Given the description of an element on the screen output the (x, y) to click on. 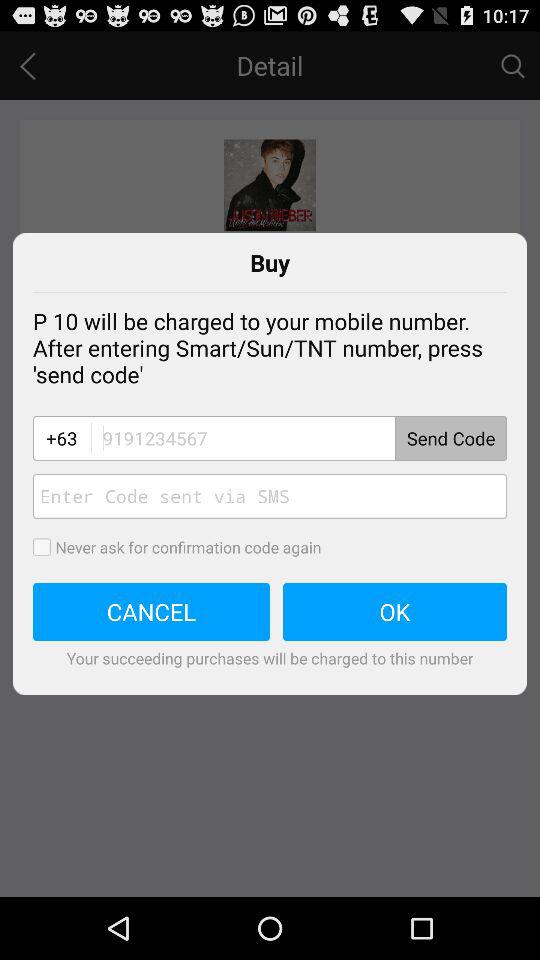
enter code (270, 496)
